Given the description of an element on the screen output the (x, y) to click on. 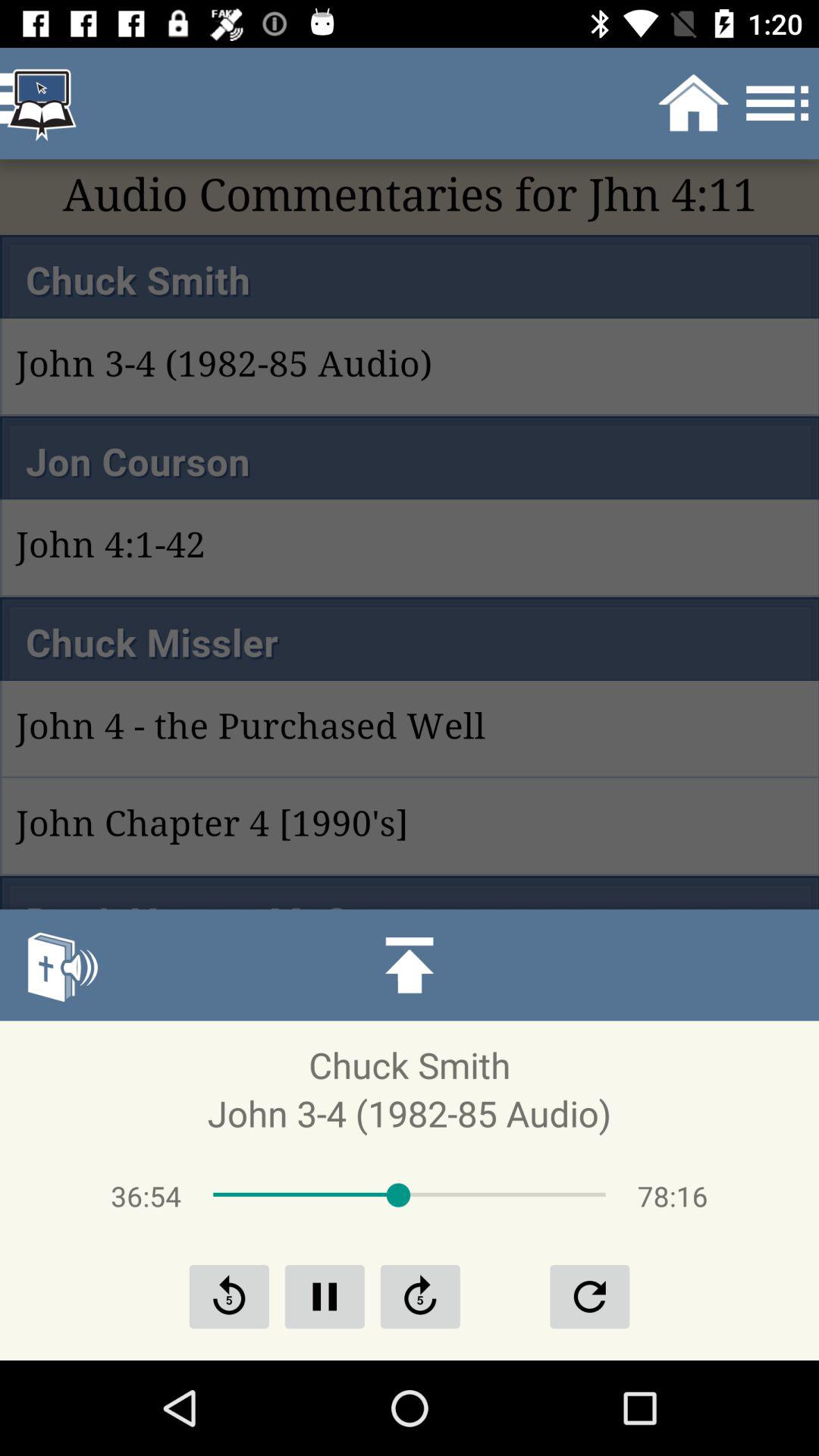
go back 5 seconds (228, 1296)
